Given the description of an element on the screen output the (x, y) to click on. 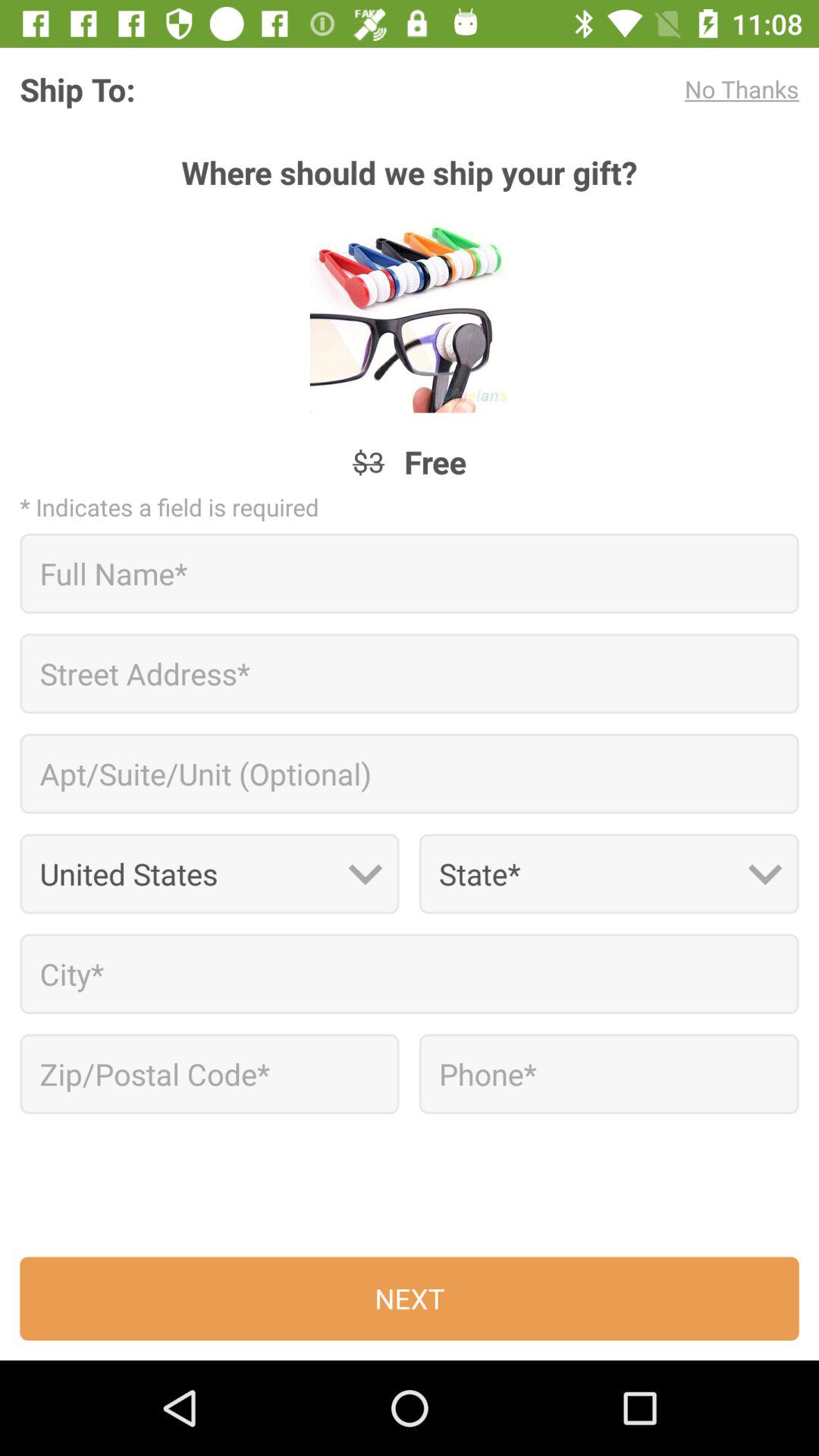
city* (409, 973)
